Given the description of an element on the screen output the (x, y) to click on. 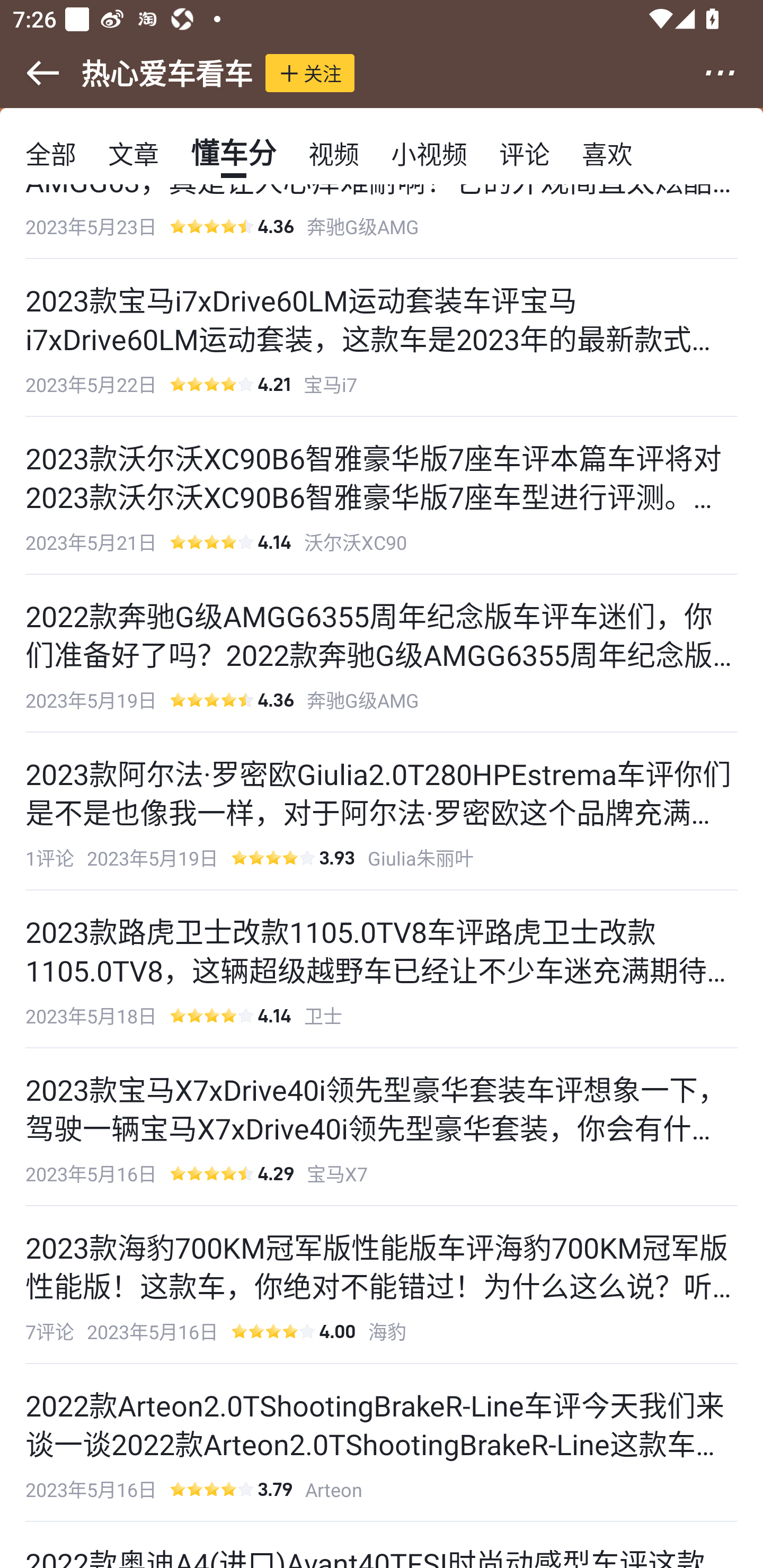
 (30, 72)
 (732, 72)
 关注 (309, 72)
全部 (50, 152)
文章 (133, 152)
懂车分 (233, 152)
视频 (333, 152)
小视频 (428, 152)
评论 (524, 152)
喜欢 (606, 152)
